Given the description of an element on the screen output the (x, y) to click on. 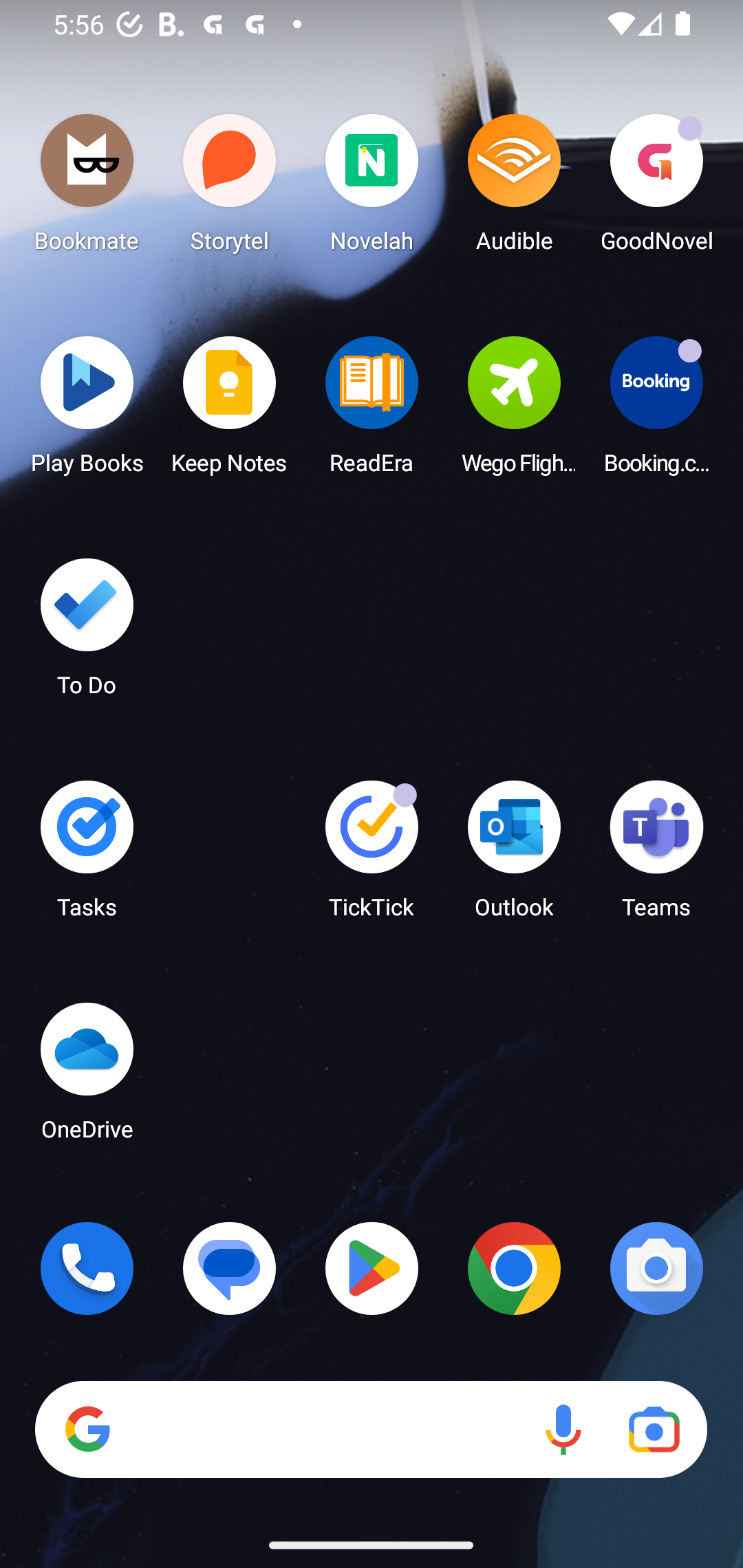
Bookmate (86, 188)
Storytel (229, 188)
Novelah (371, 188)
Audible (513, 188)
GoodNovel GoodNovel has 19 notifications (656, 188)
Play Books (86, 410)
Keep Notes (229, 410)
ReadEra (371, 410)
Wego Flights & Hotels (513, 410)
Booking.com Booking.com has 1 notification (656, 410)
To Do (86, 633)
Tasks (86, 854)
TickTick TickTick has 3 notifications (371, 854)
Outlook (513, 854)
Teams (656, 854)
OneDrive (86, 1076)
Phone (86, 1268)
Messages (229, 1268)
Play Store (371, 1268)
Chrome (513, 1268)
Camera (656, 1268)
Search Voice search Google Lens (370, 1429)
Voice search (562, 1429)
Google Lens (653, 1429)
